Given the description of an element on the screen output the (x, y) to click on. 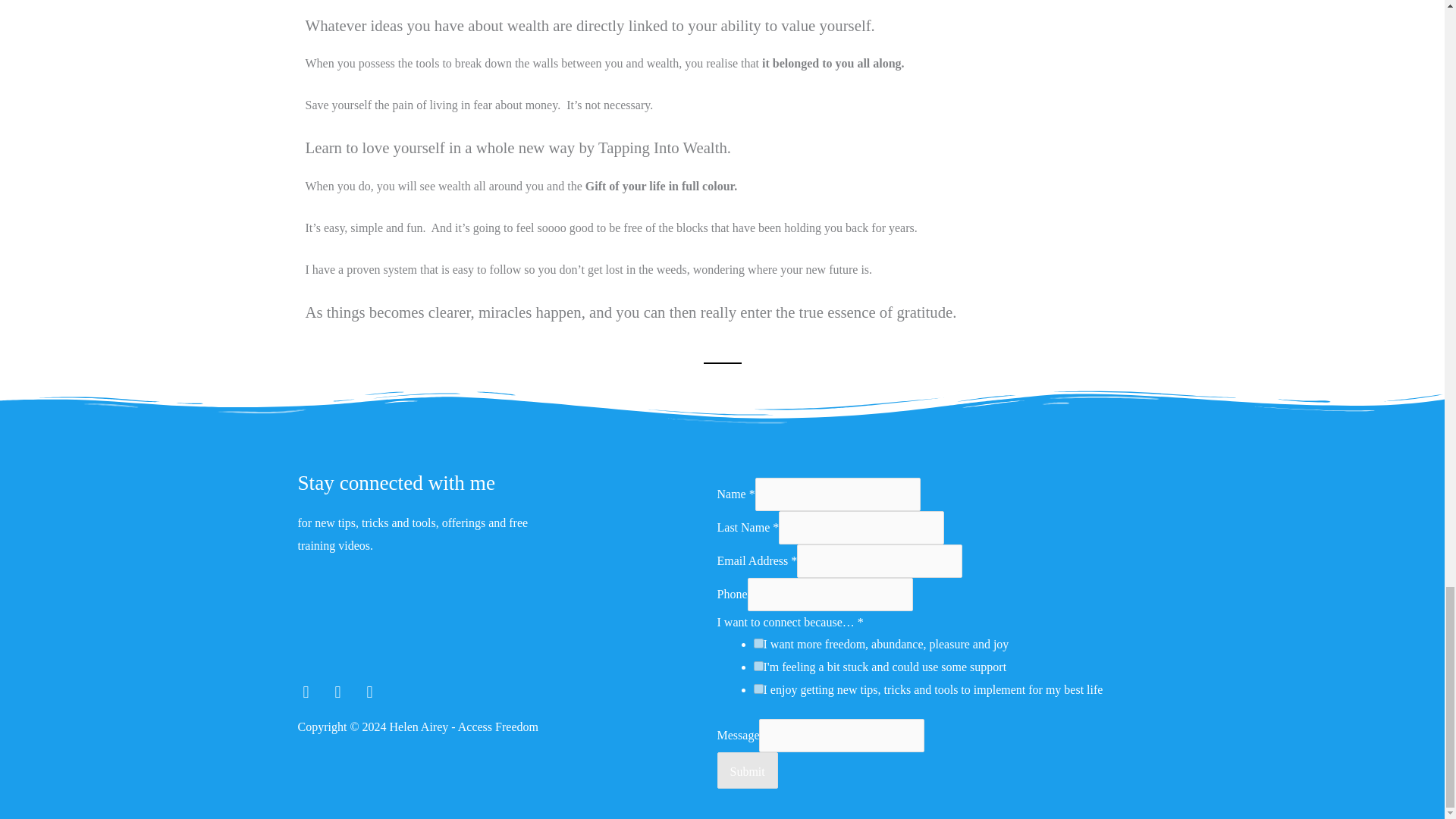
Submit (747, 770)
I'm feeling a bit stuck and could use some support (758, 665)
Linkedin-in (369, 692)
I want more freedom, abundance, pleasure and joy (758, 643)
Facebook-f (305, 692)
Instagram (337, 692)
